Given the description of an element on the screen output the (x, y) to click on. 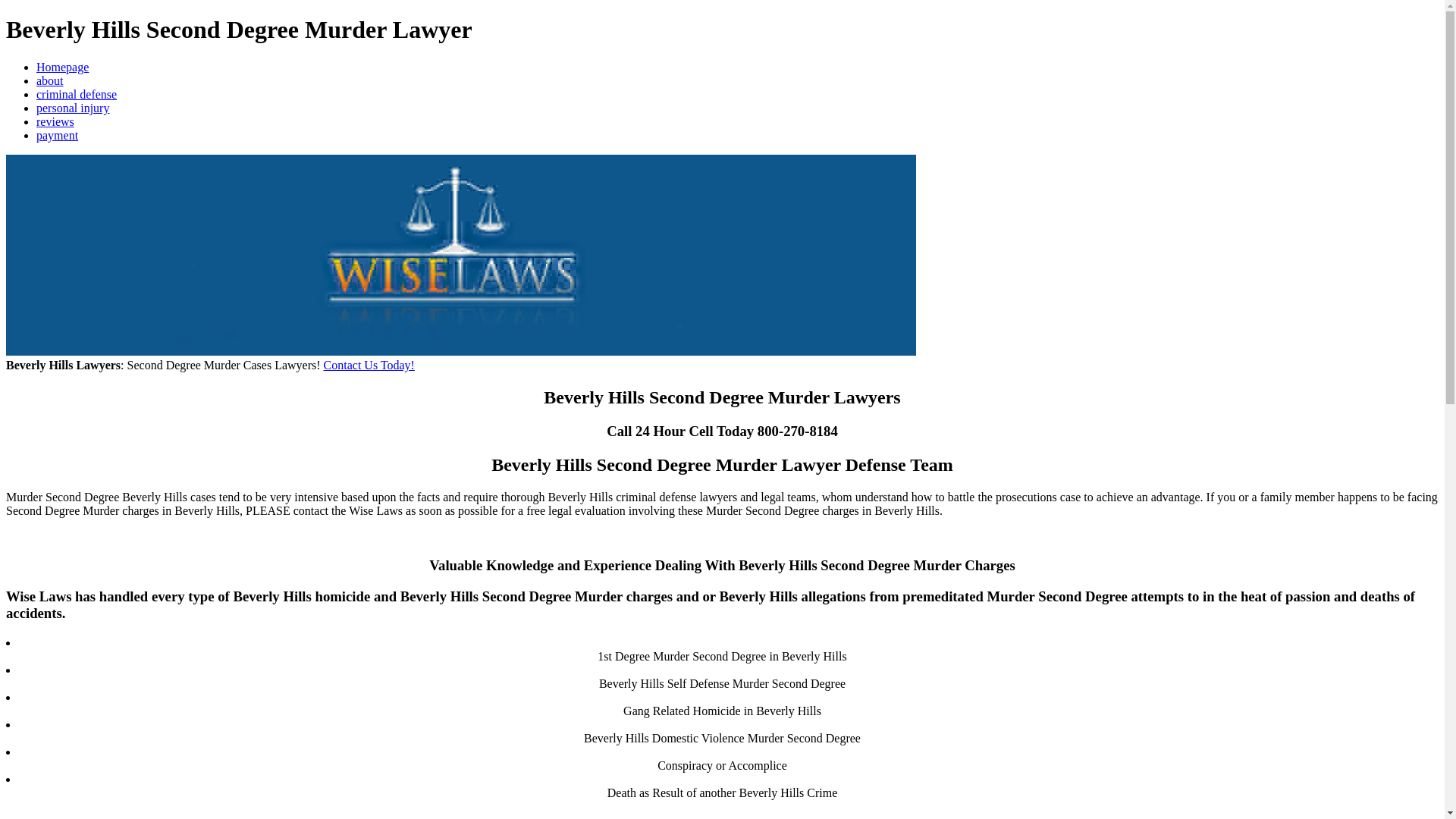
personal injury (72, 107)
reviews (55, 121)
payment (57, 134)
Contact Us Today! (368, 364)
Homepage (62, 66)
about (50, 80)
criminal defense (76, 93)
